Given the description of an element on the screen output the (x, y) to click on. 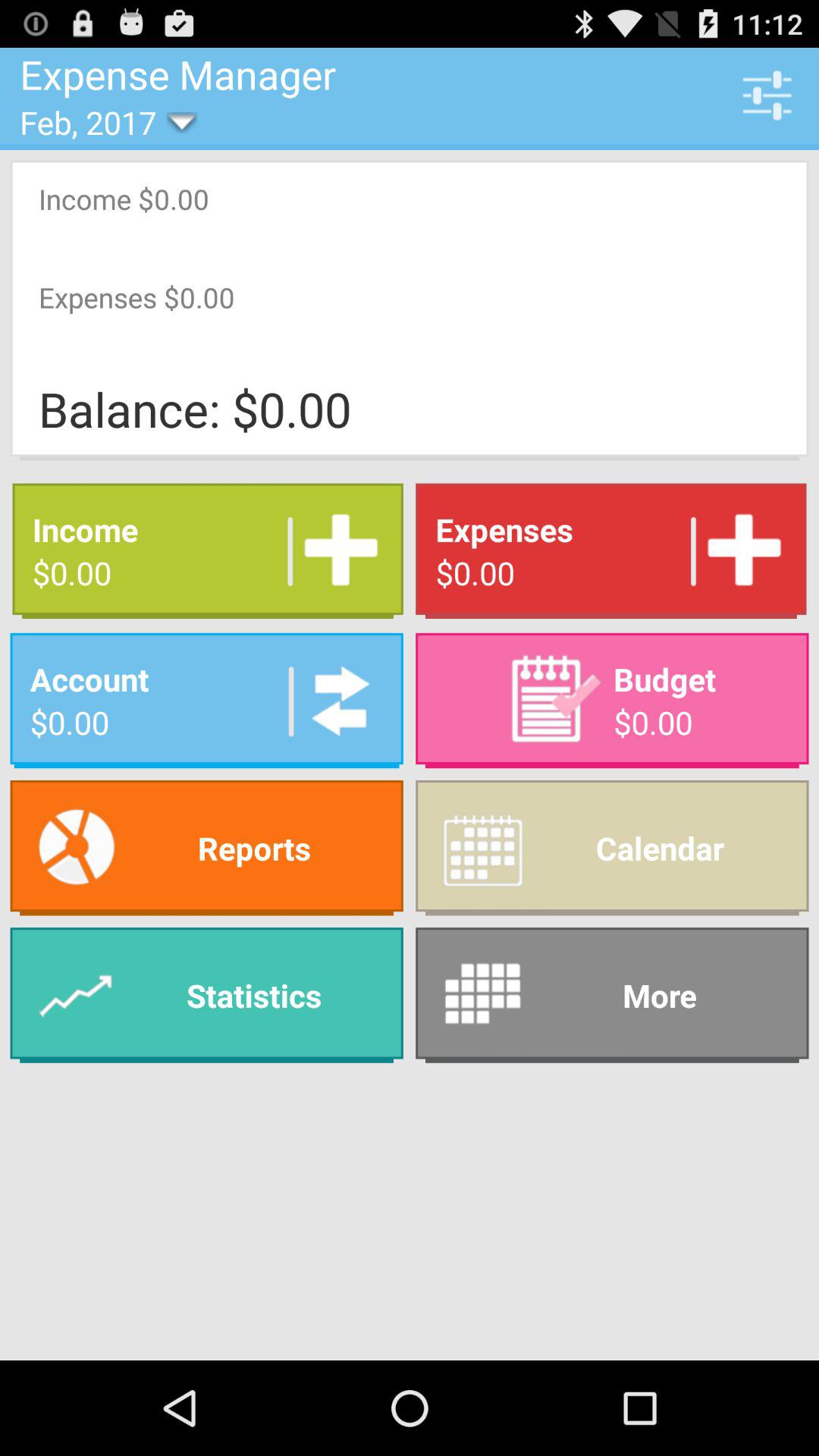
press the icon at the top right corner (767, 95)
